Given the description of an element on the screen output the (x, y) to click on. 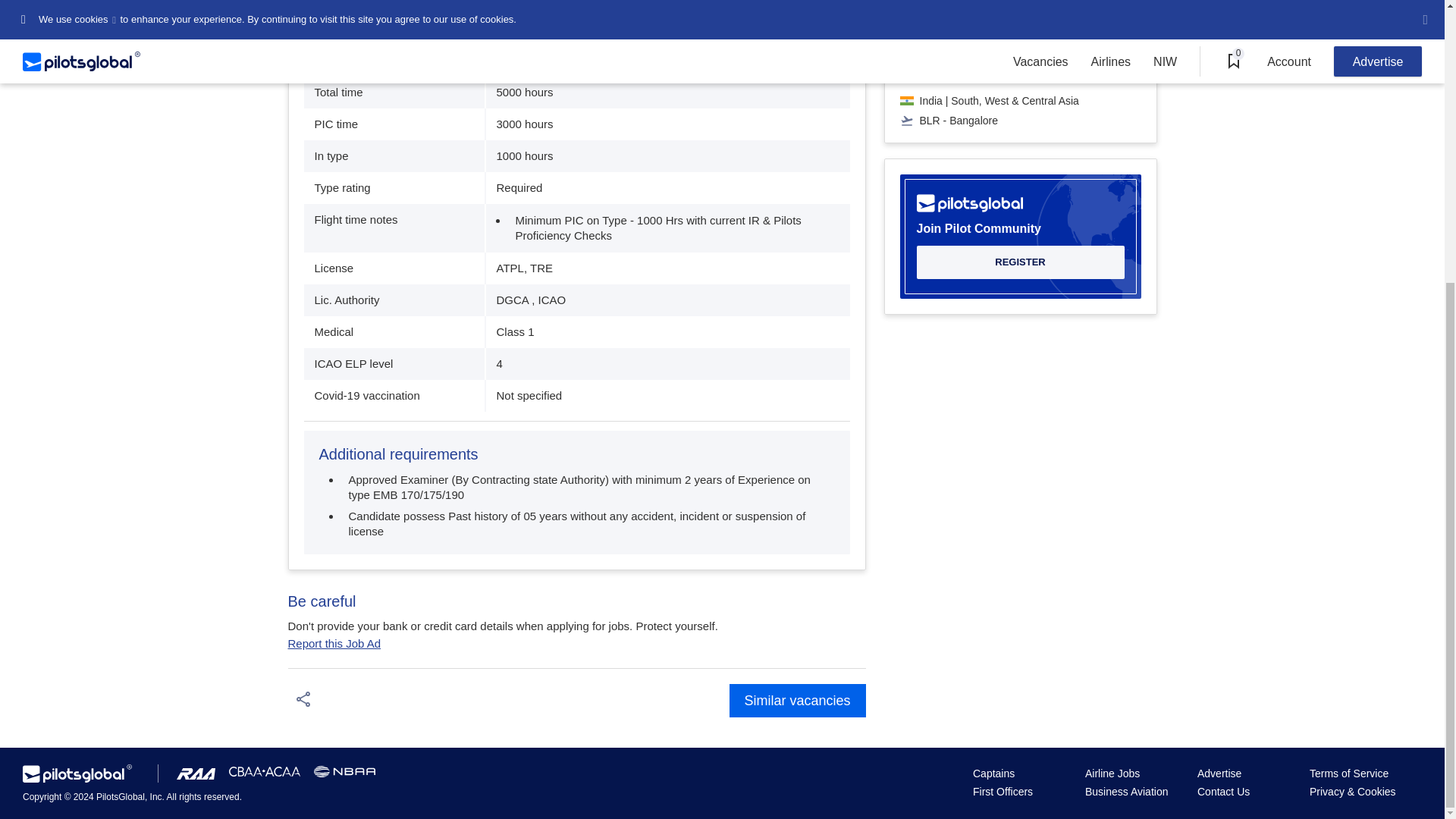
Report this Job Ad (334, 647)
REGISTER (1019, 262)
Similar vacancies (797, 700)
